Given the description of an element on the screen output the (x, y) to click on. 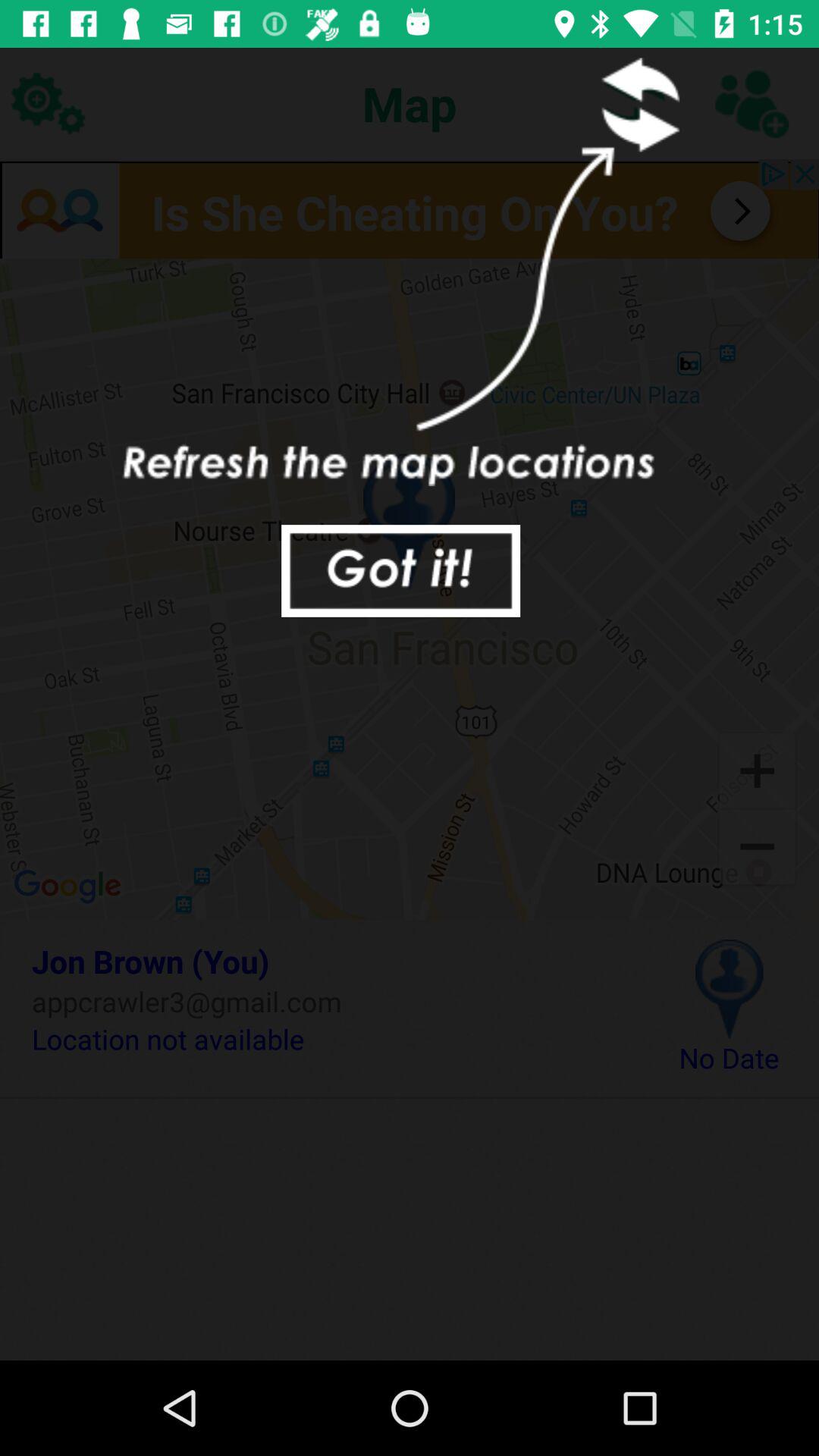
select advertisement (409, 208)
